Given the description of an element on the screen output the (x, y) to click on. 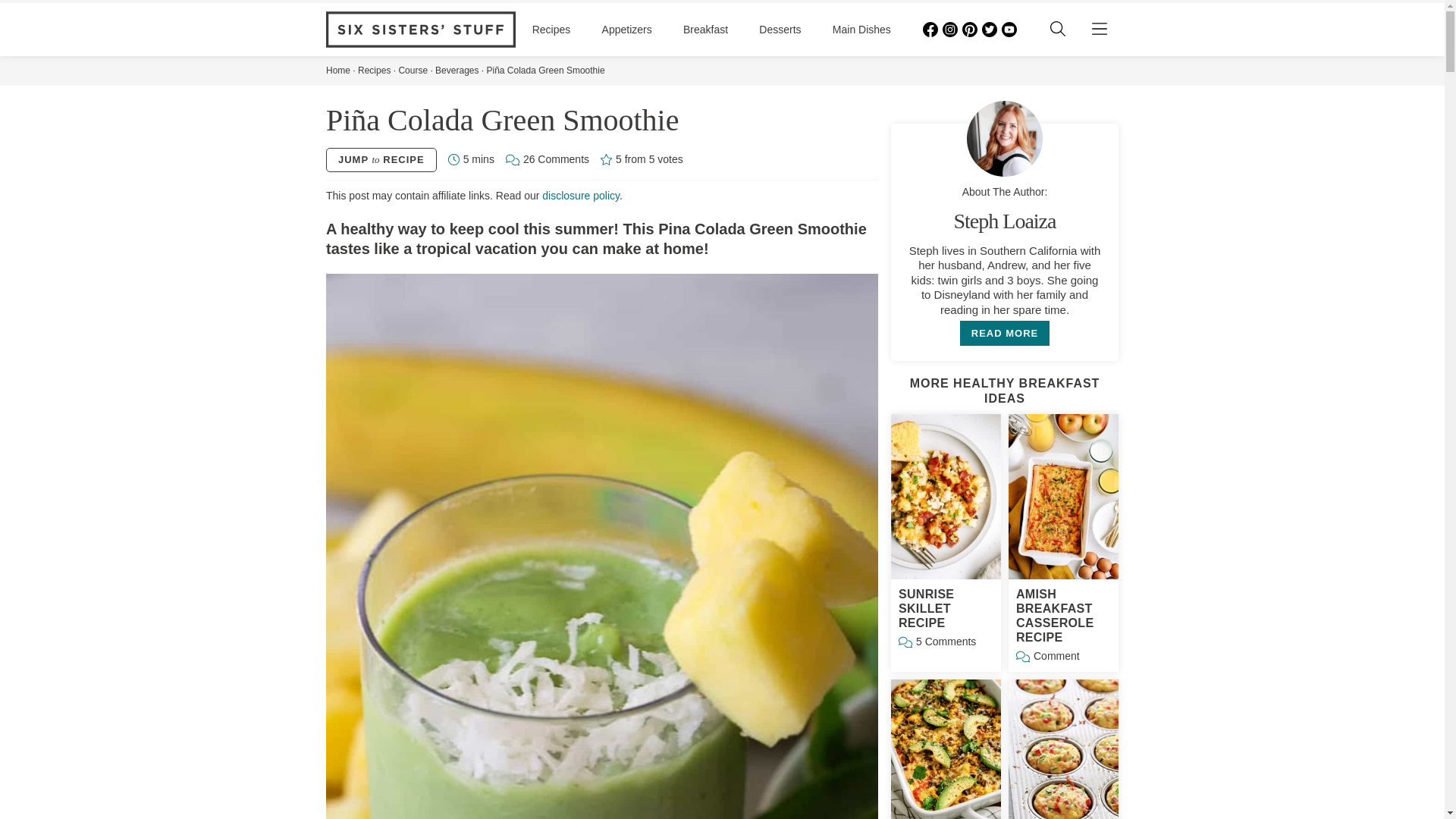
Appetizers (627, 29)
Recipes (551, 29)
Breakfast (705, 29)
Main Dishes (861, 29)
Desserts (779, 29)
